Given the description of an element on the screen output the (x, y) to click on. 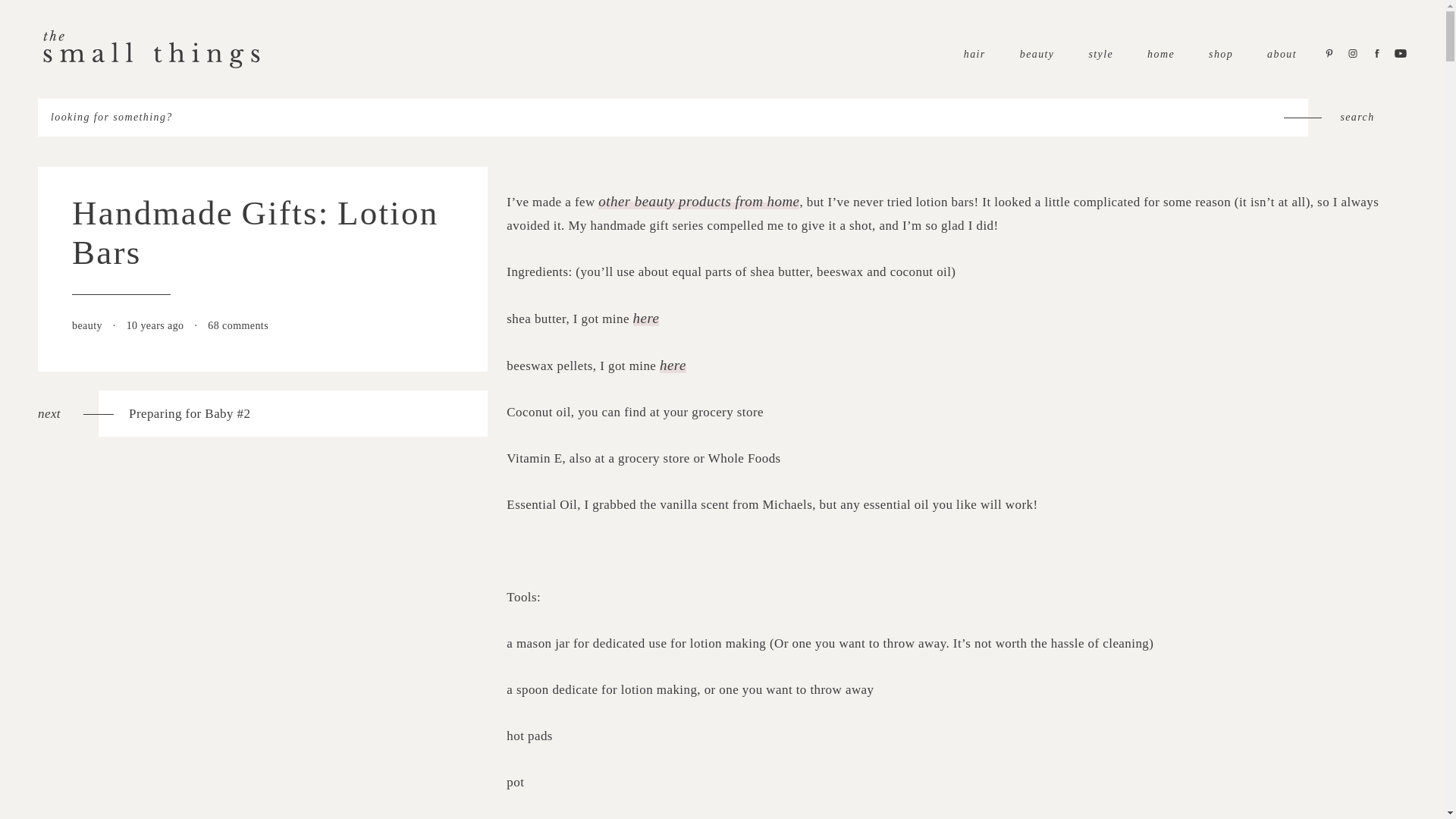
here (646, 317)
shop (1220, 53)
here (672, 365)
search (1356, 117)
beauty (87, 325)
style (1100, 53)
about (1281, 53)
search (1356, 117)
other beauty products from home (698, 201)
beauty (1037, 53)
